Given the description of an element on the screen output the (x, y) to click on. 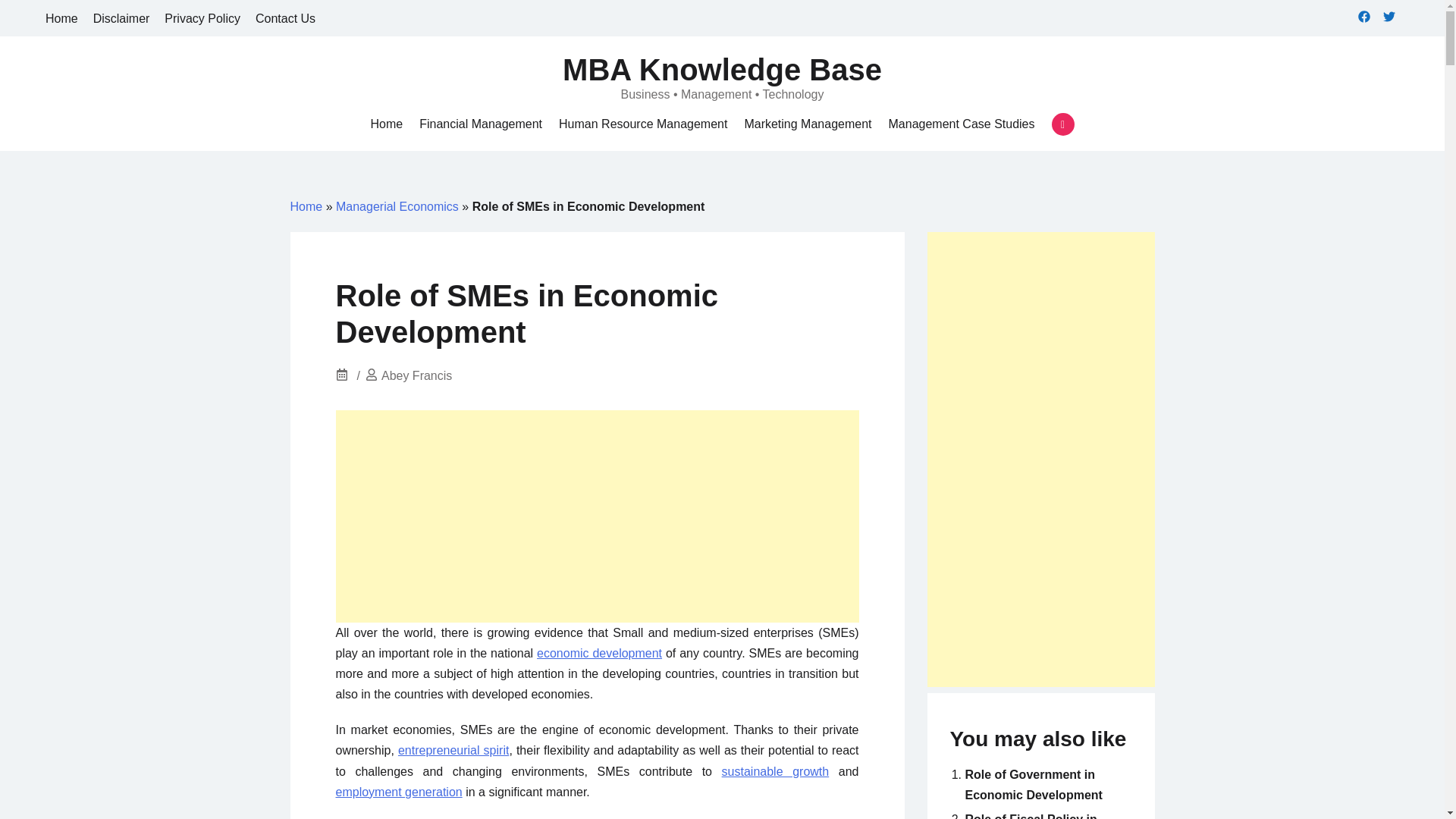
Financial Management (480, 123)
Managerial Economics (397, 205)
Marketing Management (807, 123)
economic development (599, 653)
Contact Us (285, 18)
Home (61, 18)
Human Resource Management (642, 123)
Abey Francis (416, 375)
Management Case Studies (961, 123)
employment generation (397, 791)
